Given the description of an element on the screen output the (x, y) to click on. 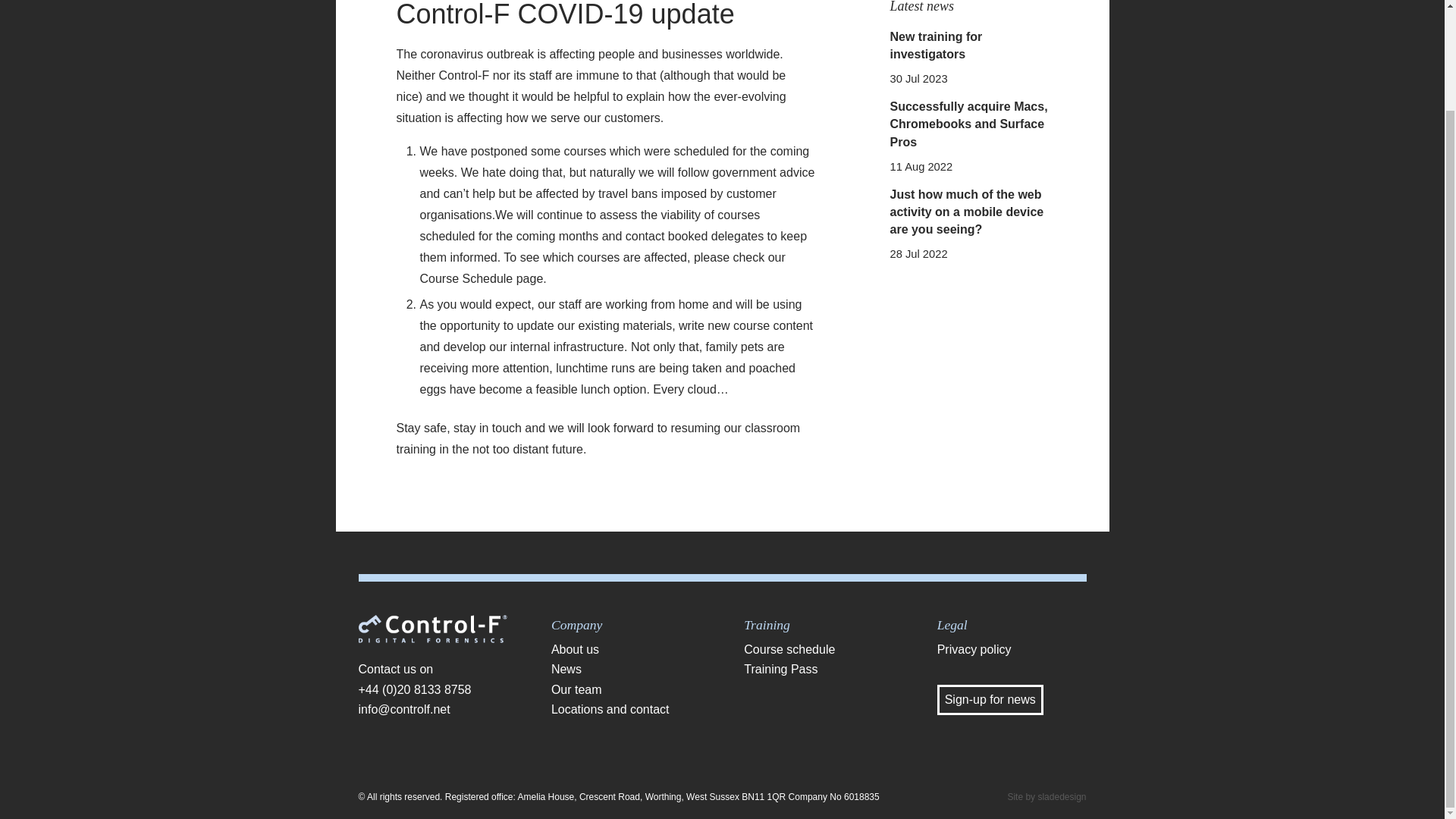
Sign-up for news (990, 699)
Locations and contact (625, 709)
Course Schedule (466, 278)
New training for investigators (935, 45)
Read: New training for investigators (935, 45)
sladedesign (1061, 796)
Training Pass (818, 669)
About us (625, 649)
News (625, 669)
Course schedule (818, 649)
Successfully acquire Macs, Chromebooks and Surface Pros (968, 123)
Our team (625, 690)
